Given the description of an element on the screen output the (x, y) to click on. 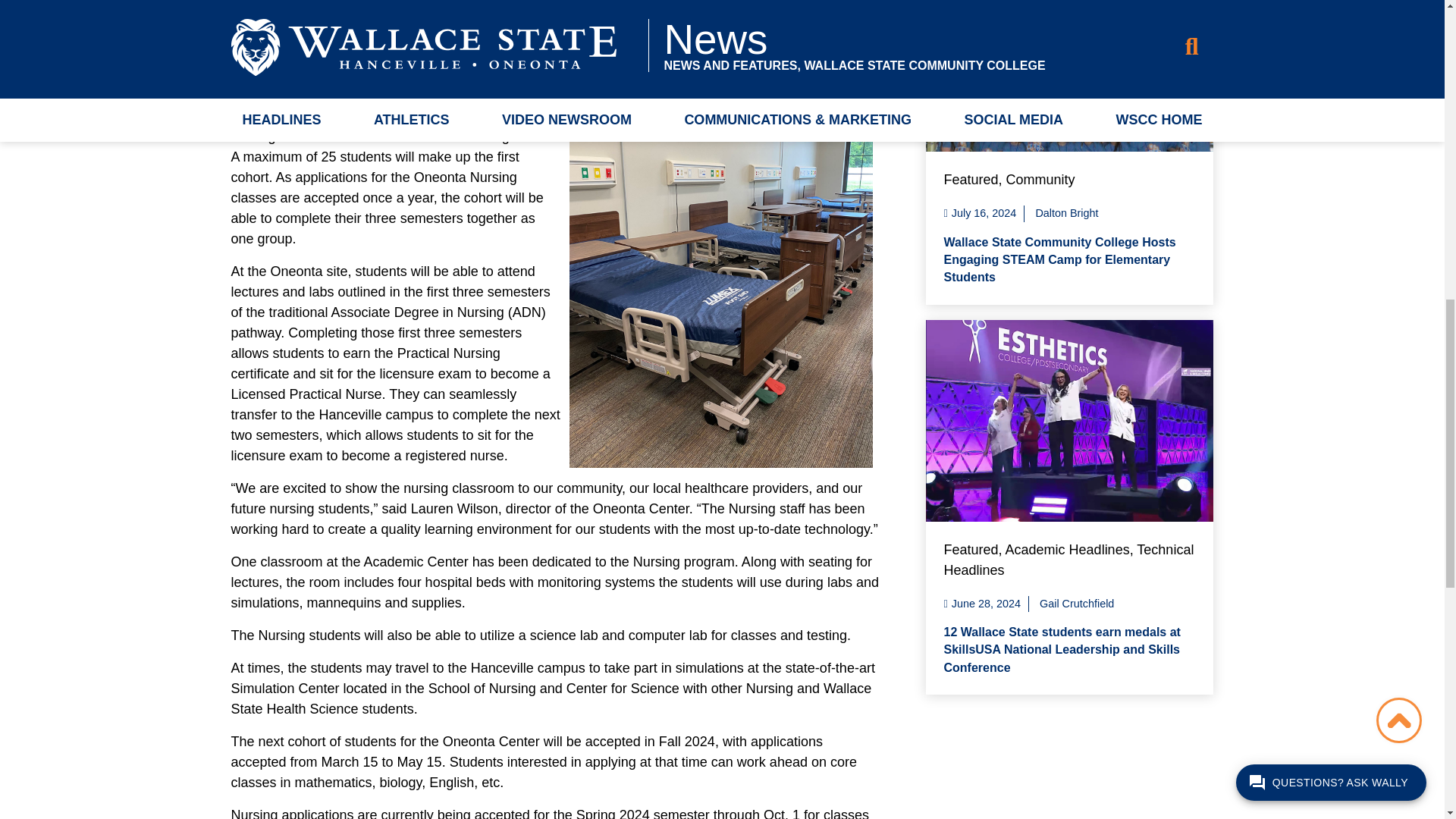
Featured (970, 179)
Oneonta Nursing (720, 280)
Community (1040, 179)
